Given the description of an element on the screen output the (x, y) to click on. 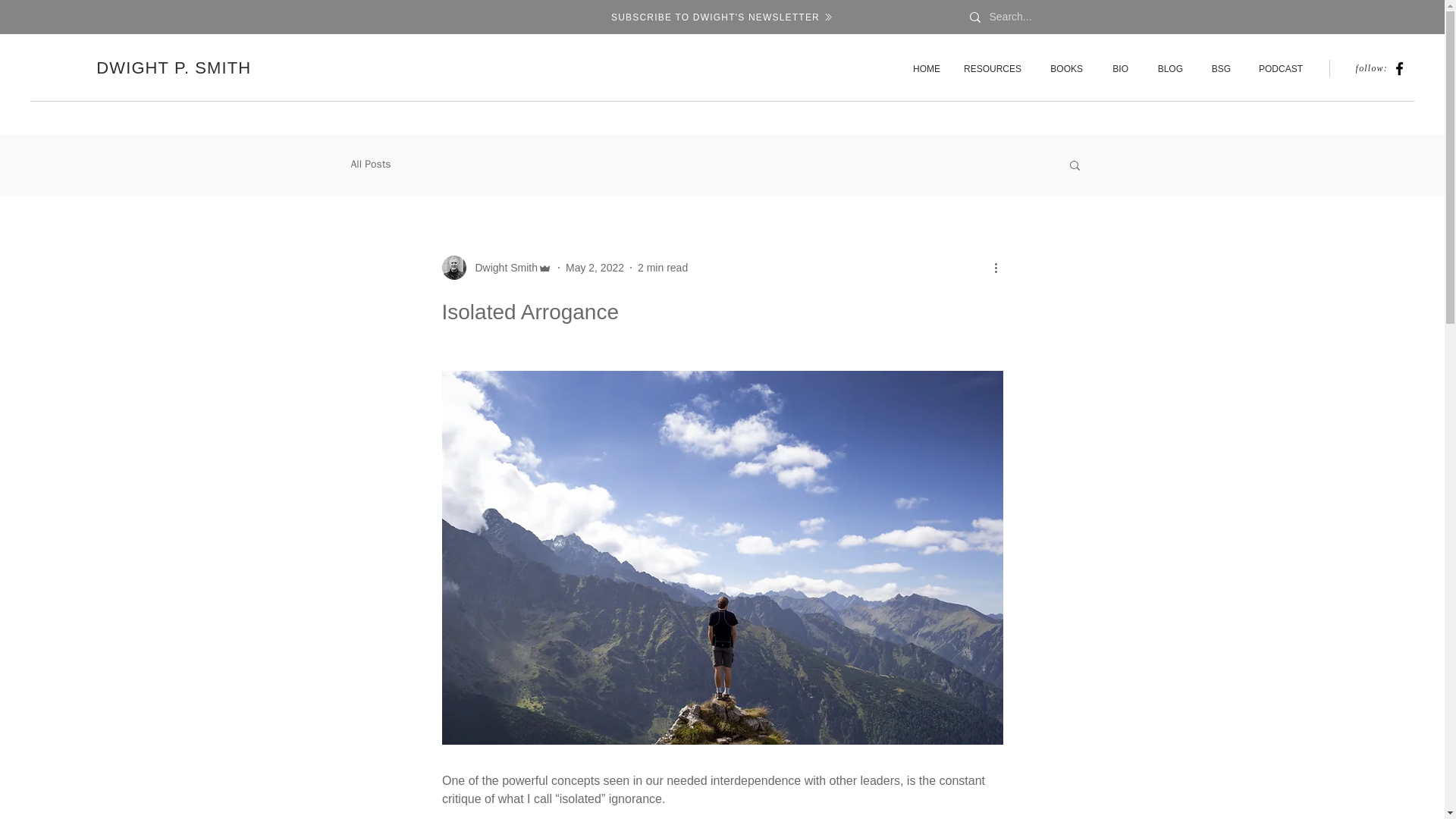
RESOURCES (992, 69)
May 2, 2022 (595, 266)
SUBSCRIBE TO DWIGHT'S NEWSLETTER (721, 16)
follow: (1364, 68)
BLOG (1166, 69)
BIO (1117, 69)
BOOKS (1063, 69)
HOME (923, 69)
Dwight Smith (501, 267)
2 min read (662, 266)
